Given the description of an element on the screen output the (x, y) to click on. 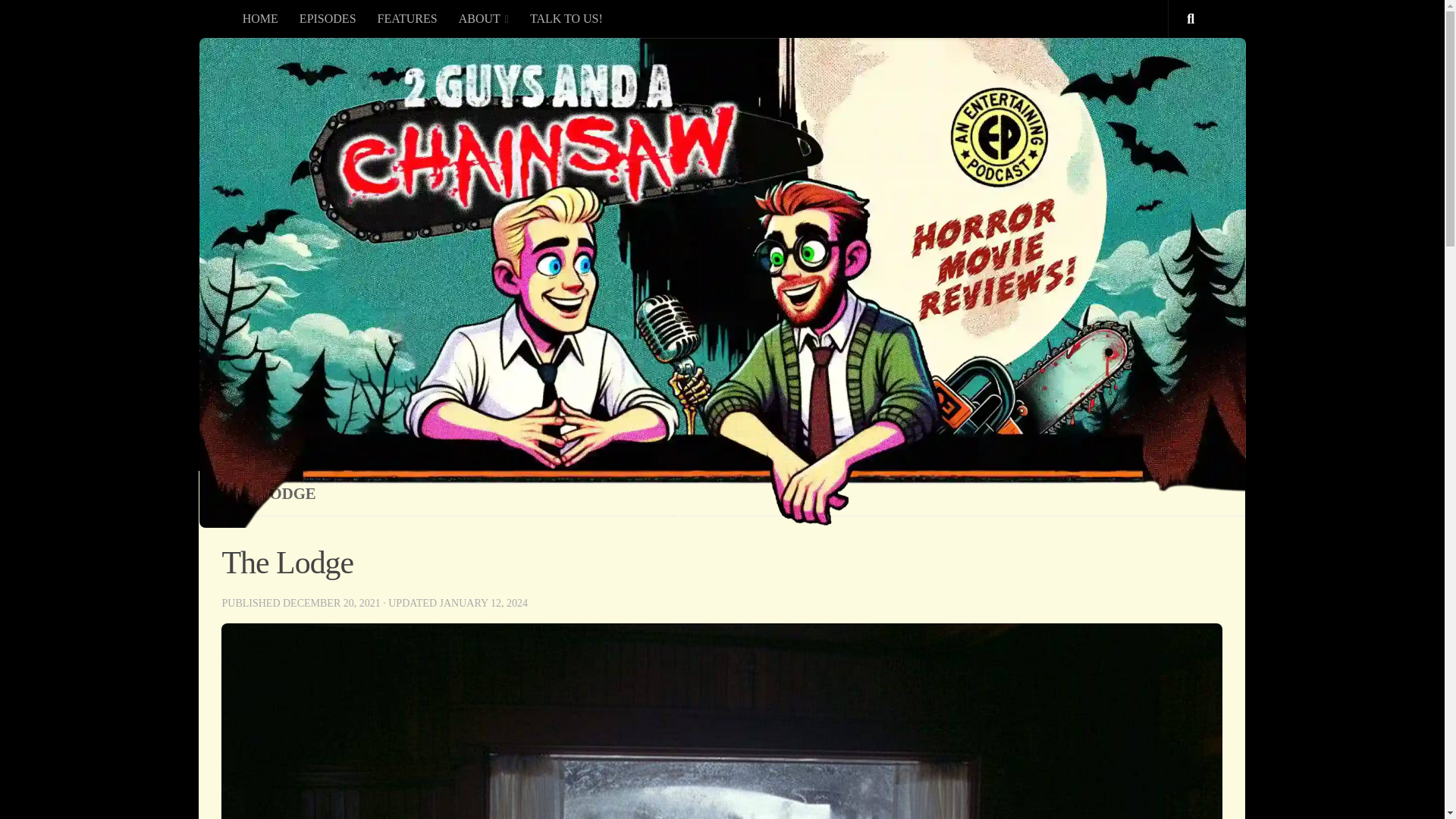
EPISODES (327, 18)
FEATURES (407, 18)
HOME (259, 18)
Skip to content (59, 20)
Home (259, 18)
Episodes (327, 18)
ABOUT (483, 18)
TALK TO US! (565, 18)
